Given the description of an element on the screen output the (x, y) to click on. 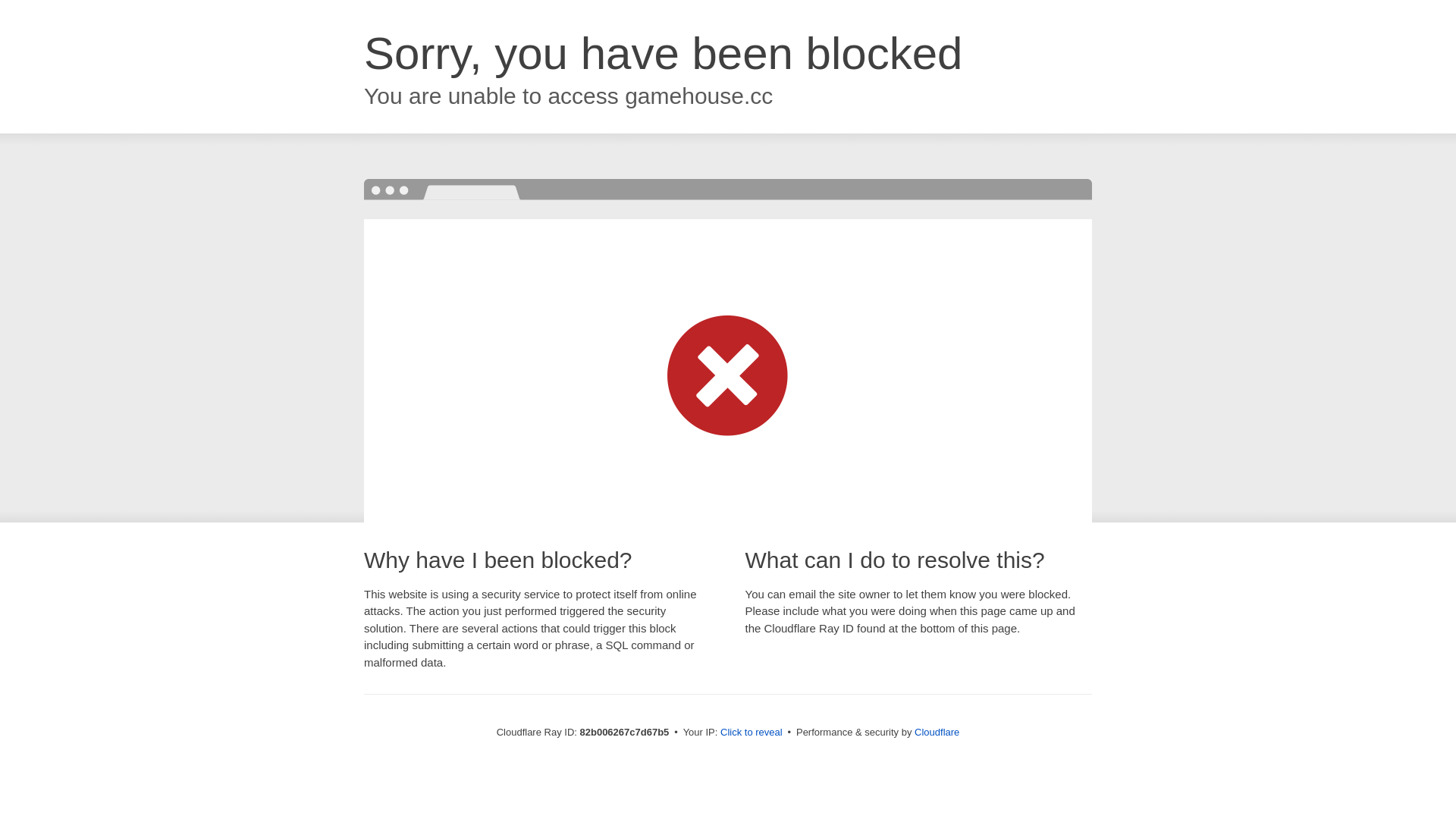
Click to reveal Element type: text (751, 732)
Cloudflare Element type: text (936, 731)
